Given the description of an element on the screen output the (x, y) to click on. 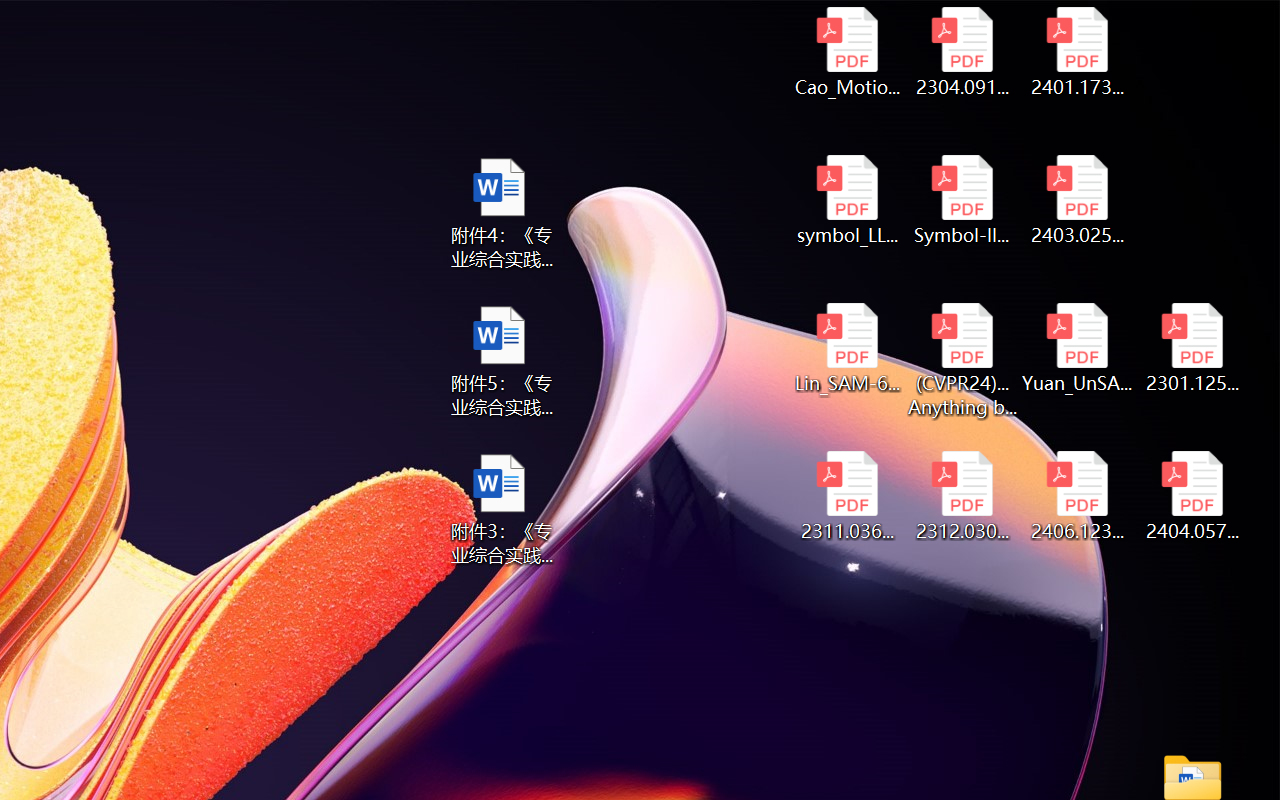
2304.09121v3.pdf (962, 52)
(CVPR24)Matching Anything by Segmenting Anything.pdf (962, 360)
